Given the description of an element on the screen output the (x, y) to click on. 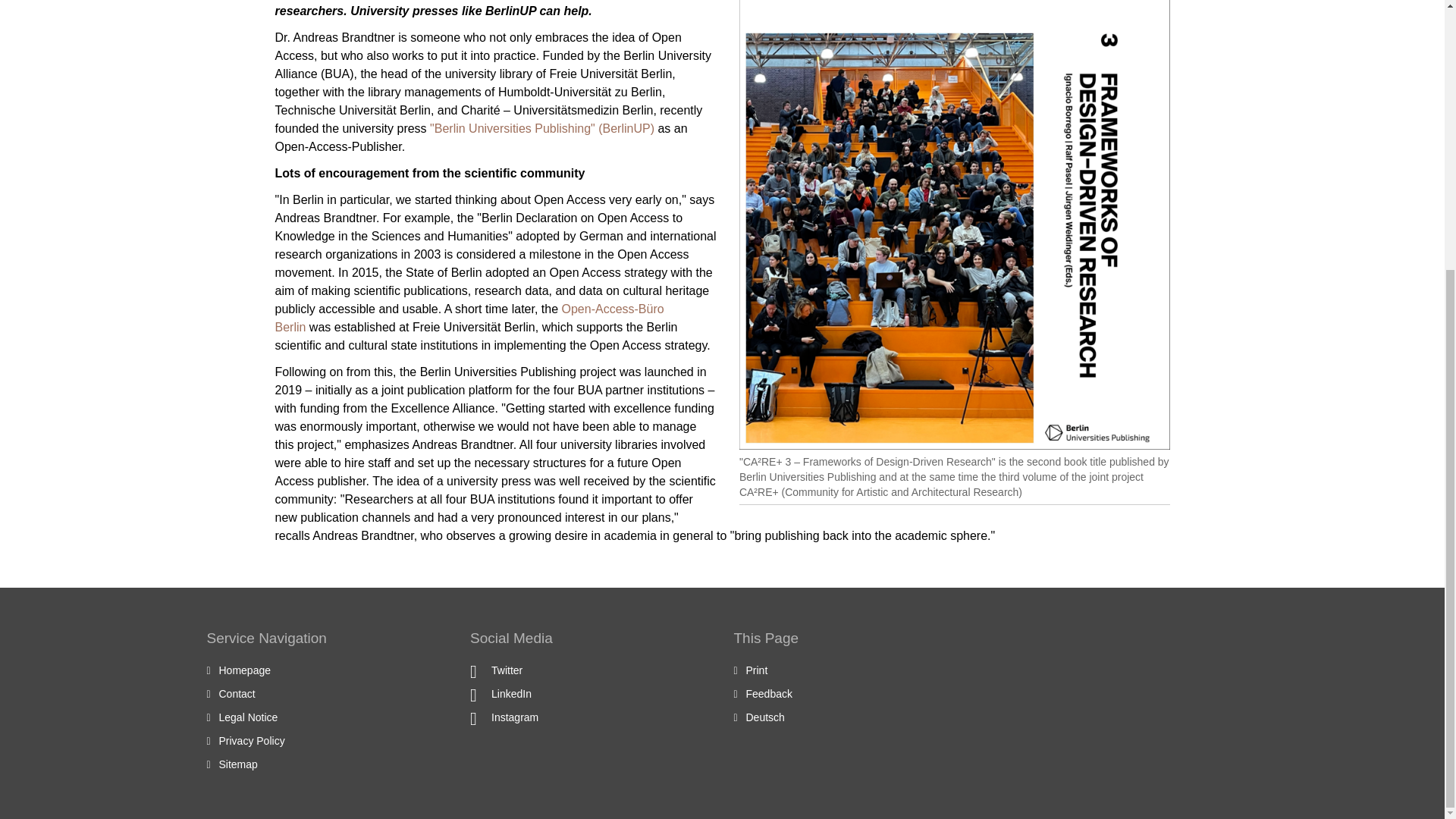
To the Homepage of: Berlin University Alliance (244, 670)
Privacy Policy (250, 740)
